Given the description of an element on the screen output the (x, y) to click on. 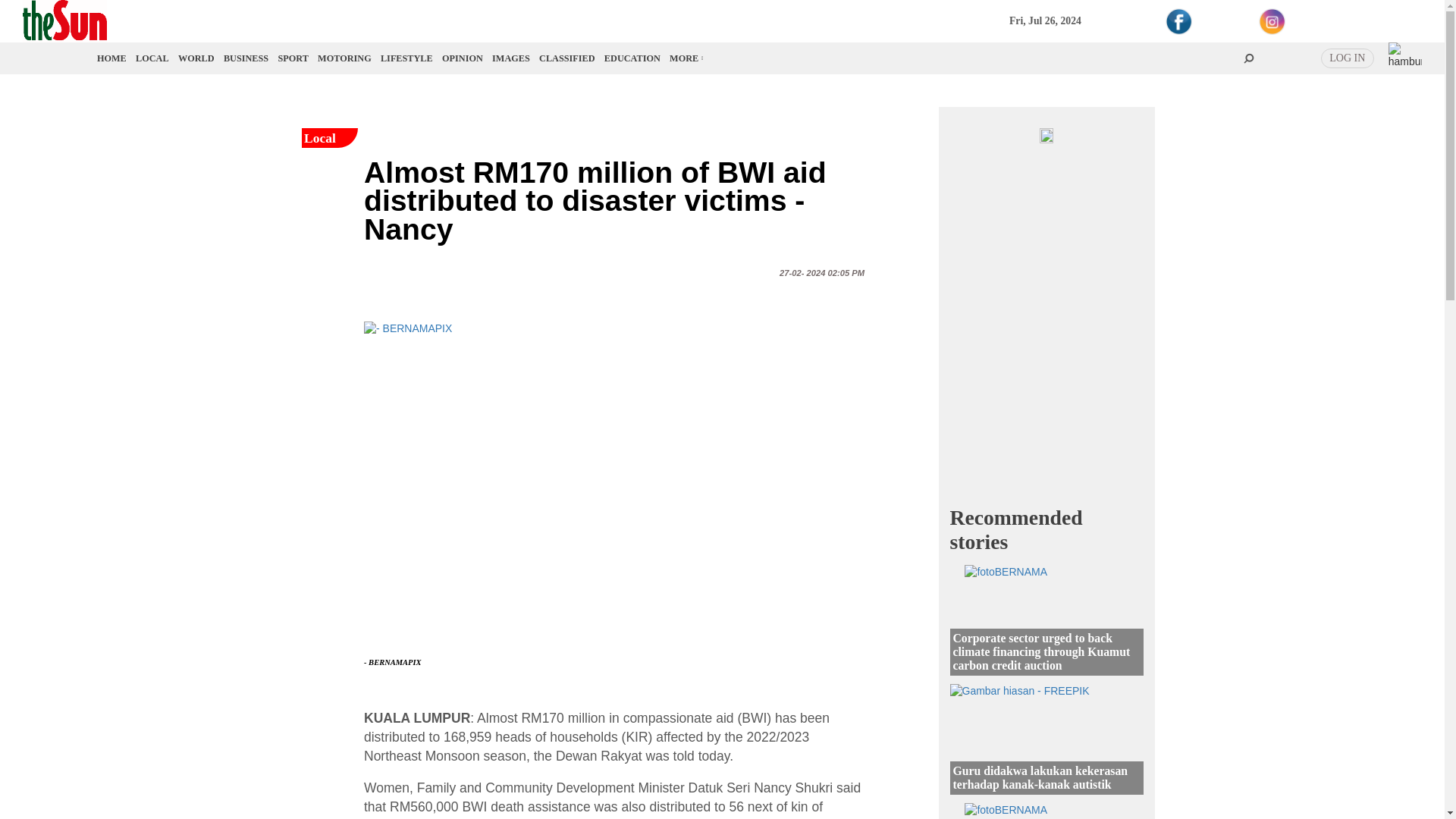
LOG IN (1347, 57)
IMAGES (510, 57)
World (195, 57)
MOTORING (344, 57)
LIFESTYLE (406, 57)
WORLD (195, 57)
HOME (111, 57)
Home (111, 57)
LOCAL (151, 57)
MORE (685, 57)
LOG IN (1347, 57)
EDUCATION (632, 57)
BUSINESS (245, 57)
CLASSIFIED (566, 57)
SPORT (292, 57)
